Given the description of an element on the screen output the (x, y) to click on. 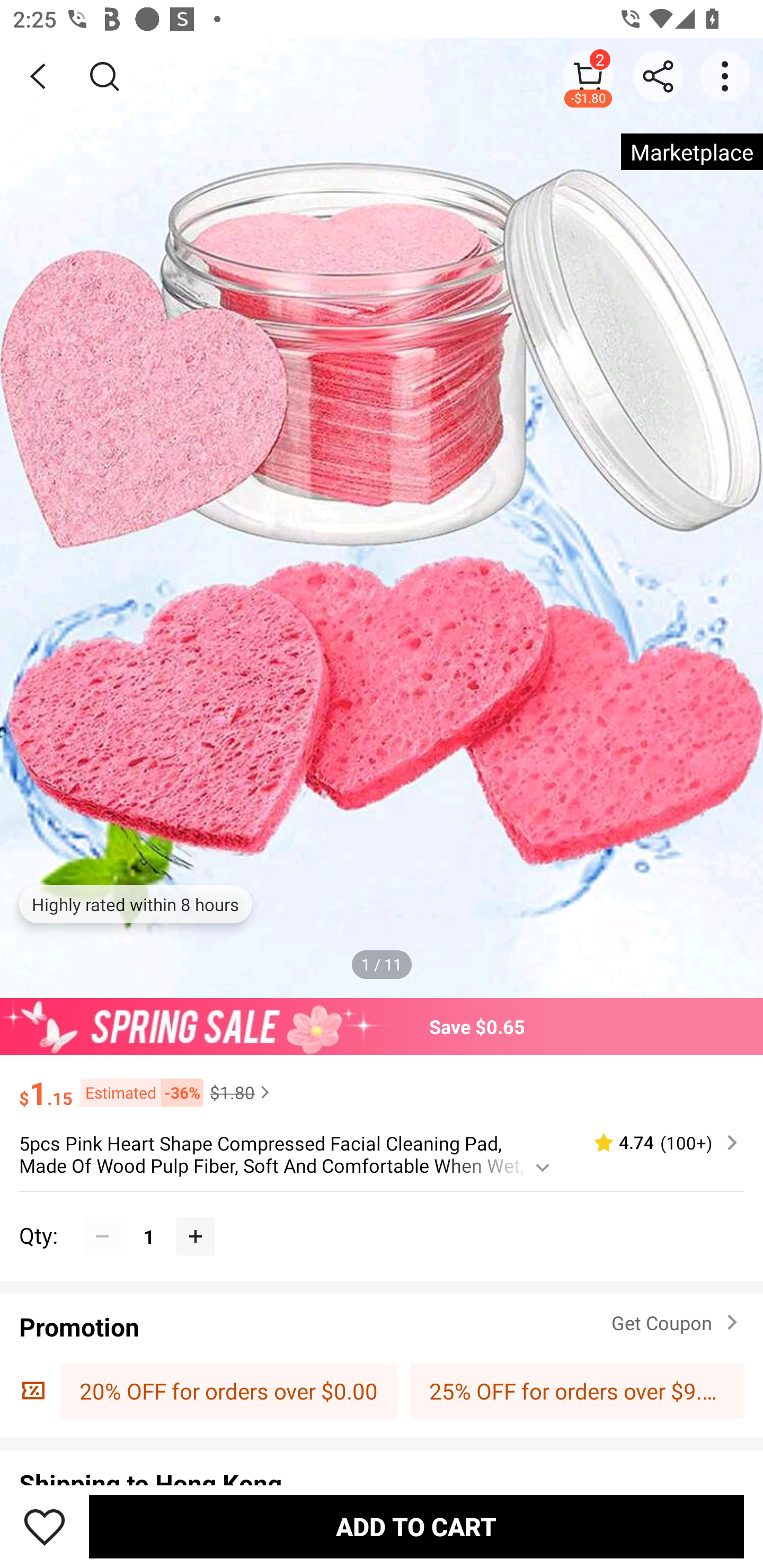
BACK (38, 75)
2 -$1.80 (588, 75)
1 / 11 (381, 964)
Save $0.65 (381, 1026)
$1.15 Estimated -36% $1.80 (381, 1084)
Estimated -36% (137, 1092)
$1.80 (241, 1091)
4.74 (100‎+) (658, 1142)
Qty: 1 (381, 1216)
ADD TO CART (416, 1526)
Save (44, 1526)
